Given the description of an element on the screen output the (x, y) to click on. 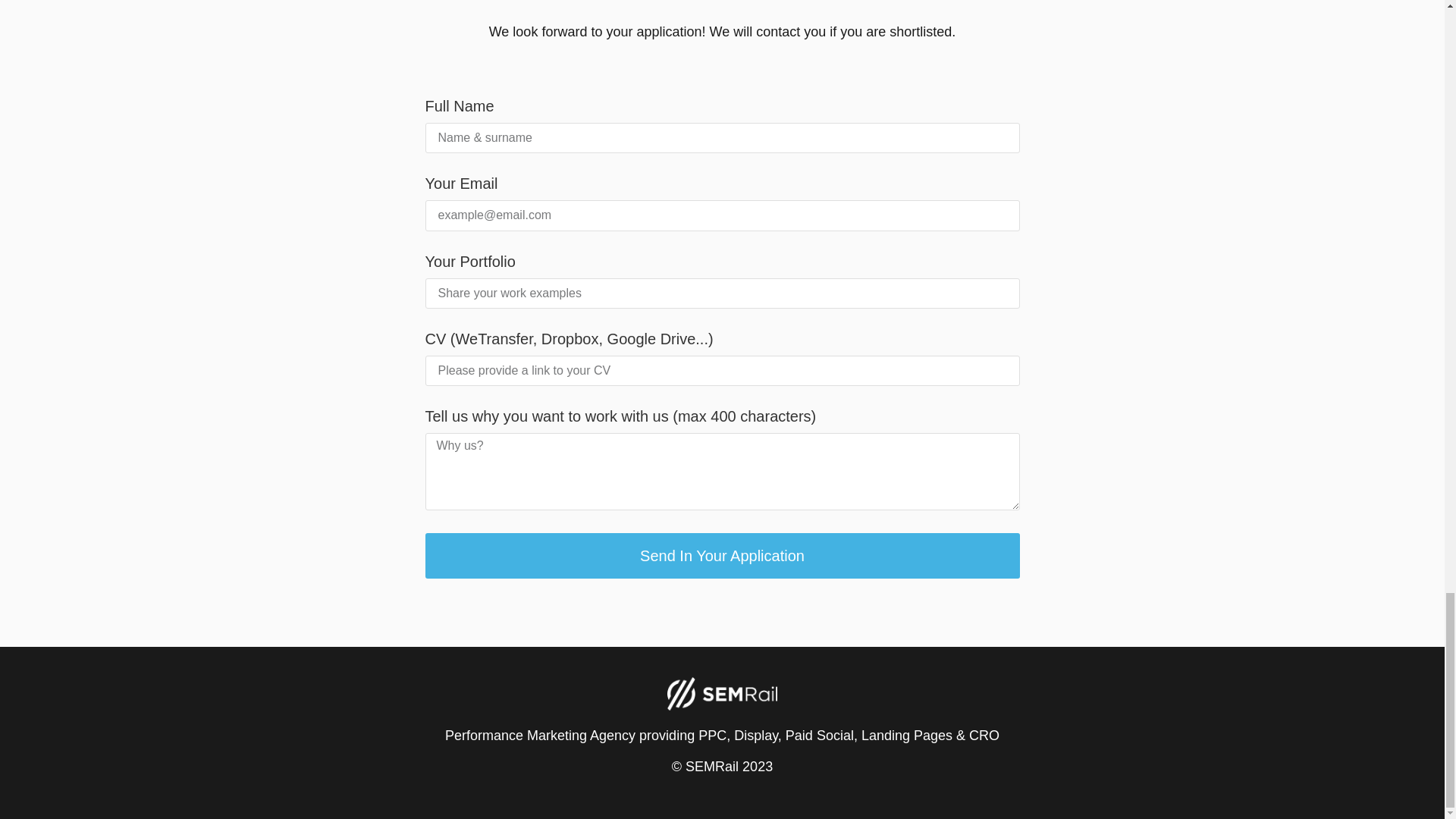
Send In Your Application (722, 555)
